Given the description of an element on the screen output the (x, y) to click on. 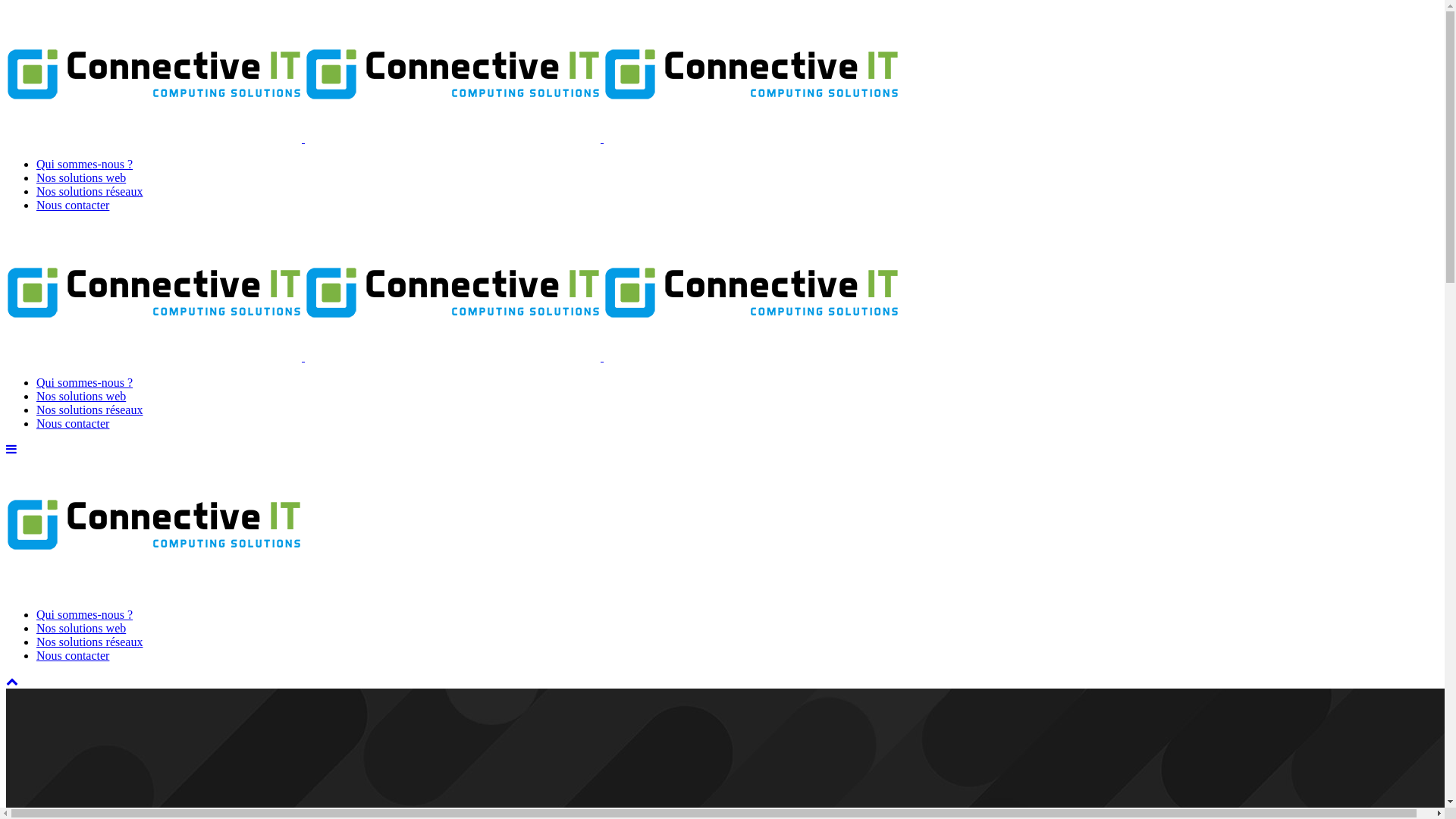
Nos solutions web Element type: text (80, 395)
Qui sommes-nous ? Element type: text (84, 163)
Nous contacter Element type: text (72, 204)
Qui sommes-nous ? Element type: text (84, 382)
Nous contacter Element type: text (72, 423)
Nos solutions web Element type: text (80, 177)
Qui sommes-nous ? Element type: text (84, 614)
Nos solutions web Element type: text (80, 627)
Nous contacter Element type: text (72, 655)
